Given the description of an element on the screen output the (x, y) to click on. 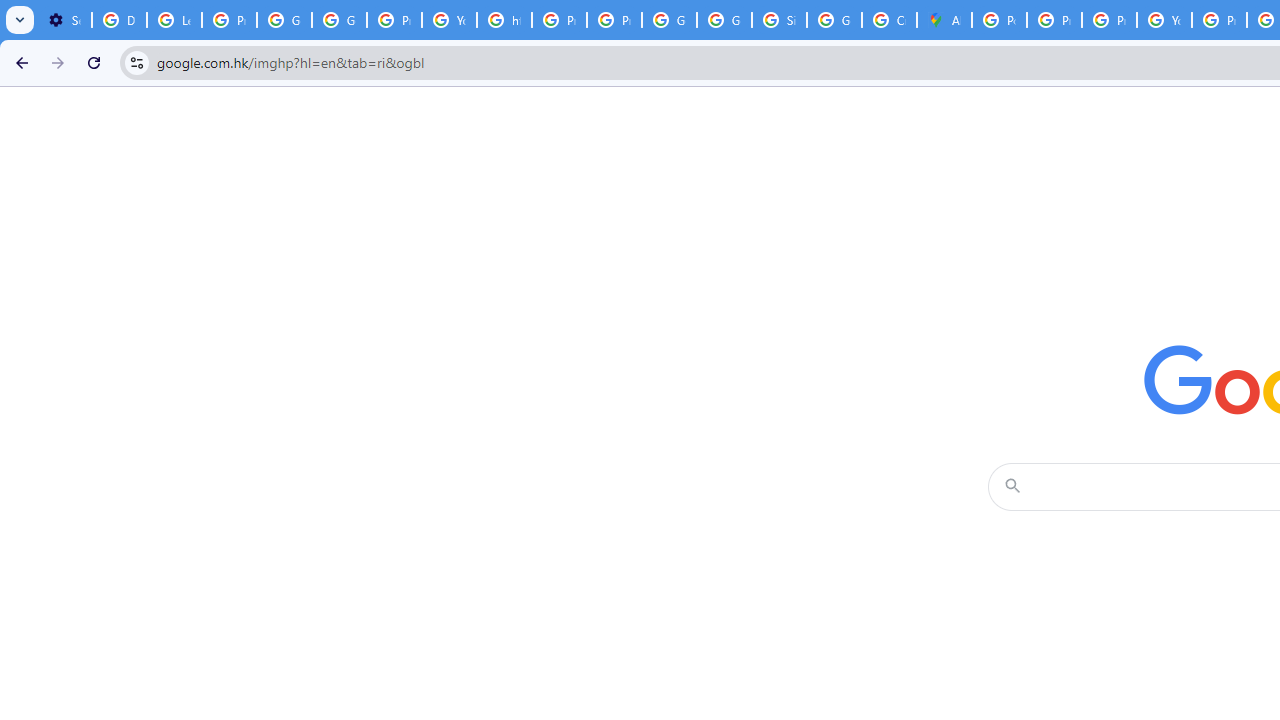
Sign in - Google Accounts (779, 20)
YouTube (1163, 20)
Privacy Help Center - Policies Help (1108, 20)
Delete photos & videos - Computer - Google Photos Help (119, 20)
Google Account Help (284, 20)
